Given the description of an element on the screen output the (x, y) to click on. 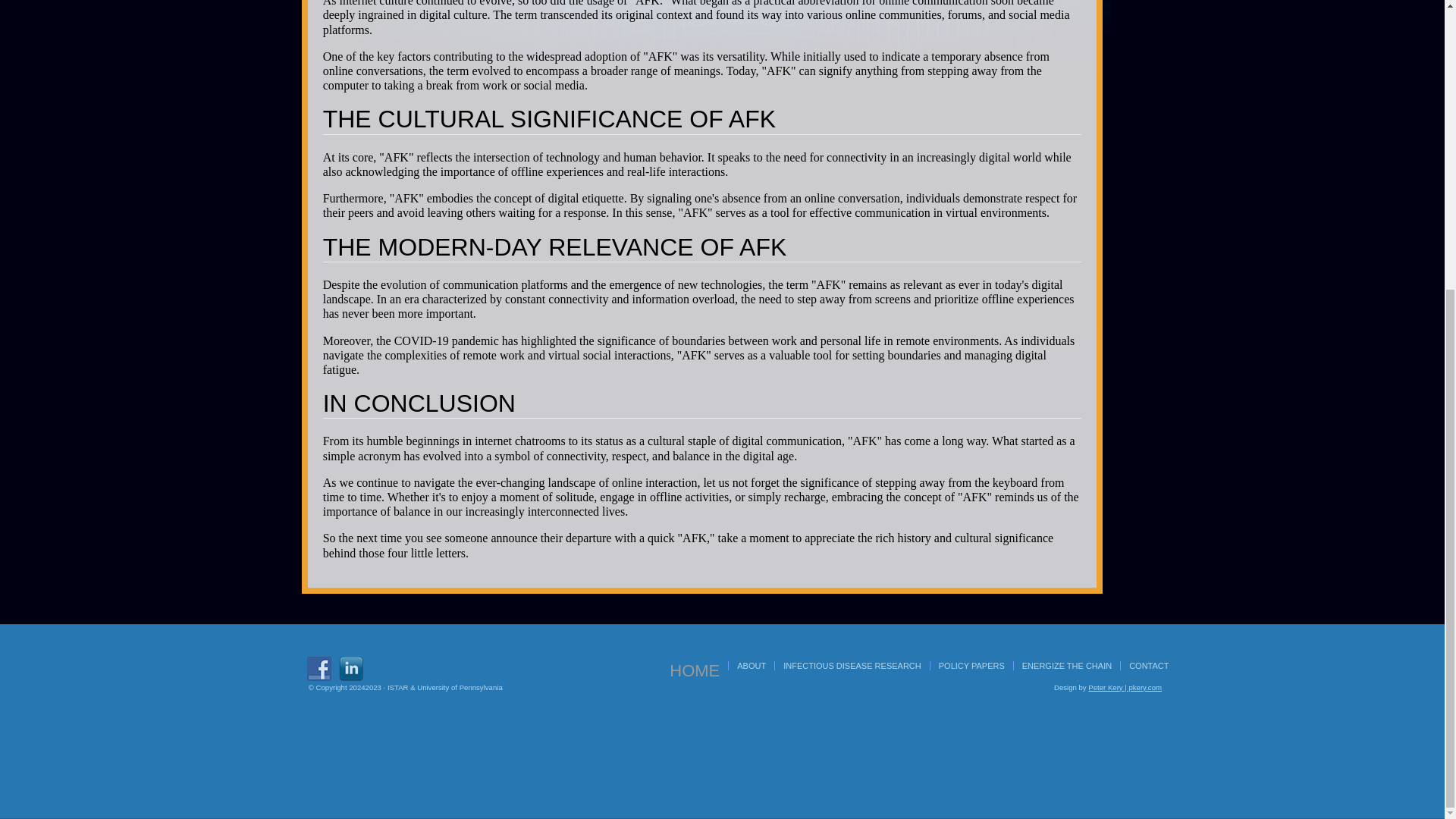
POLICY PAPERS (971, 665)
Follow Us on Facebook (317, 668)
INFECTIOUS DISEASE RESEARCH (852, 665)
ABOUT (750, 665)
CONTACT (1149, 665)
ENERGIZE THE CHAIN (1067, 665)
Follow Us on LinkedIn (349, 668)
